Given the description of an element on the screen output the (x, y) to click on. 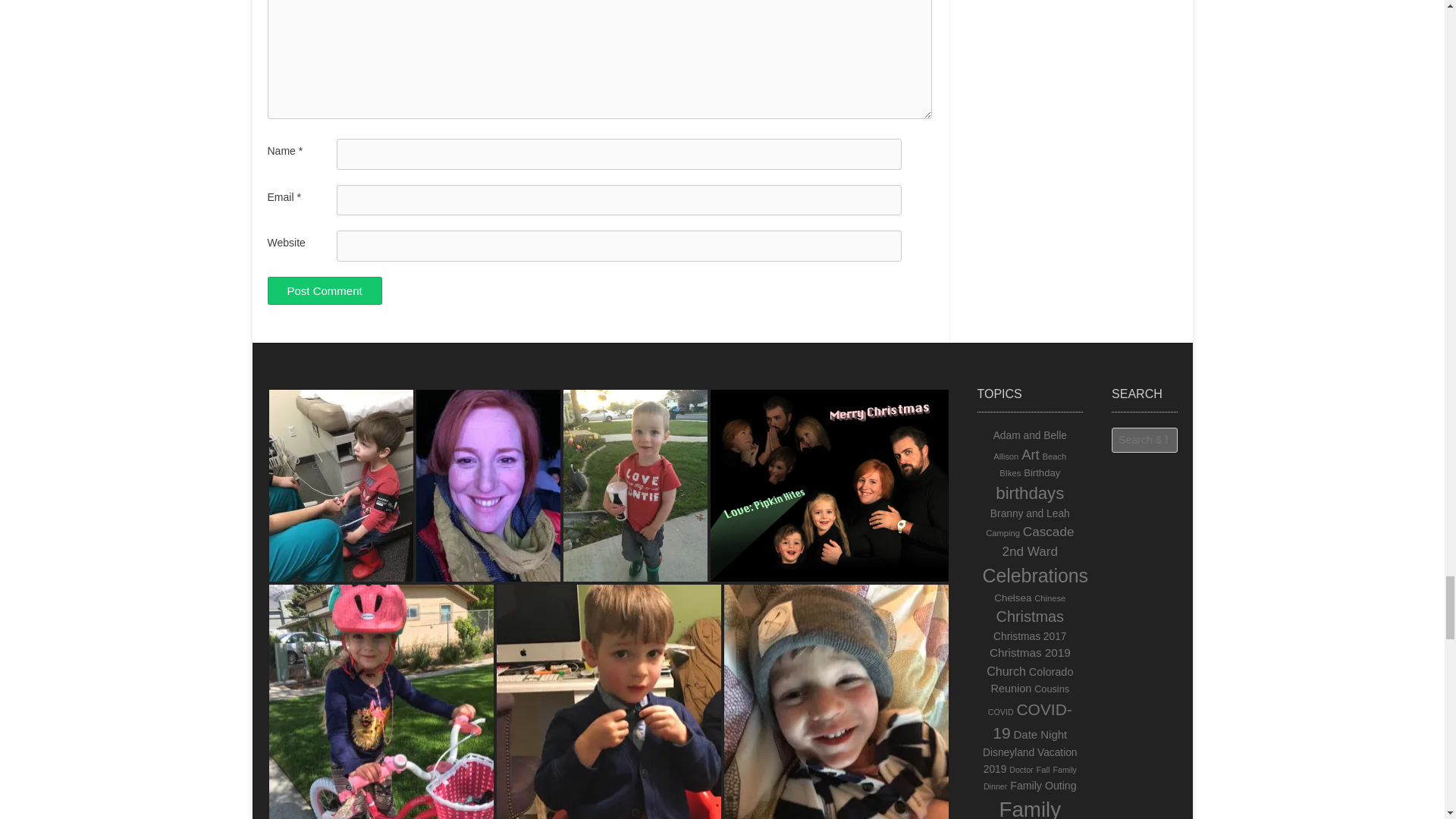
Post Comment (323, 290)
